Given the description of an element on the screen output the (x, y) to click on. 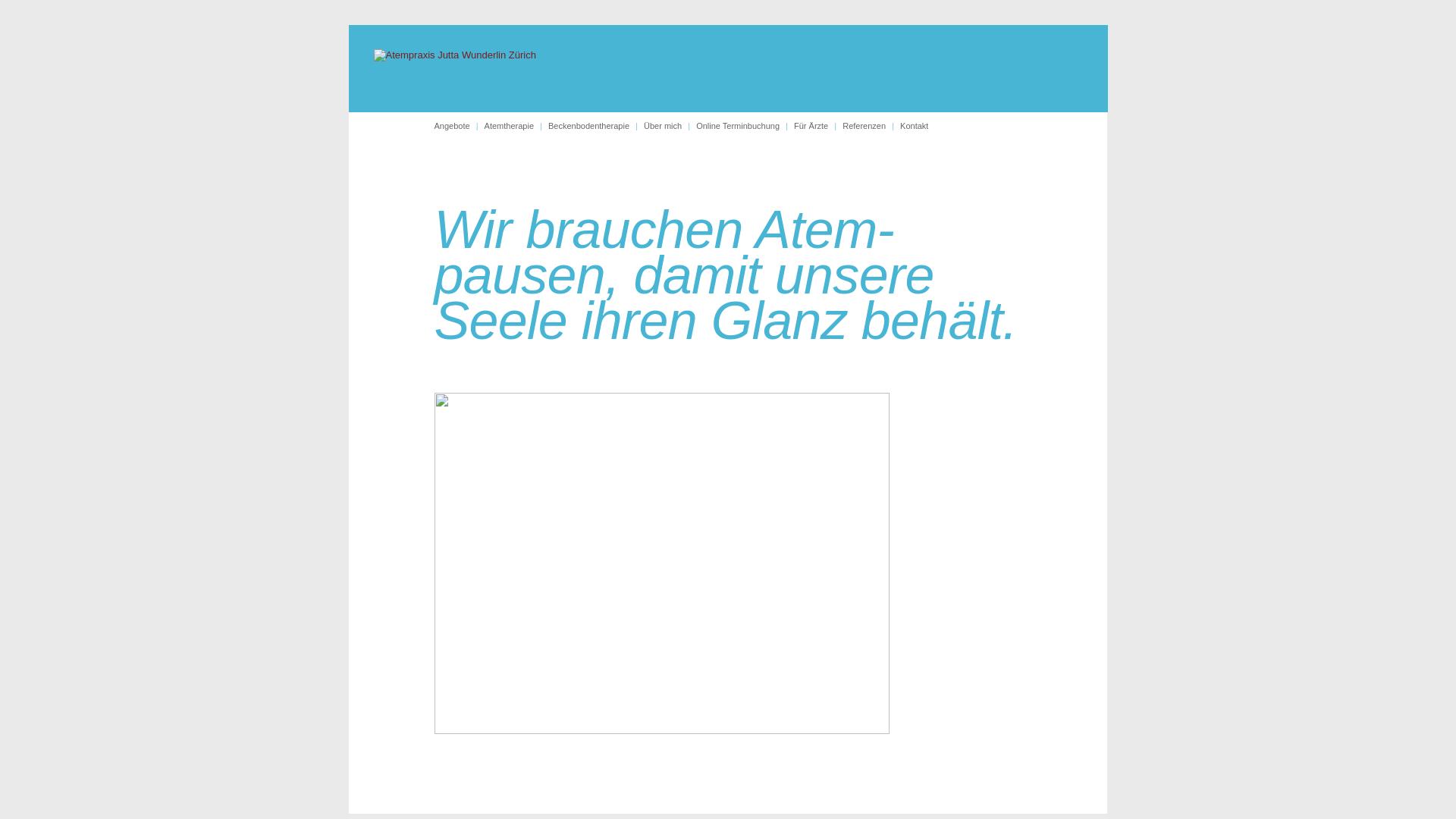
Atemtherapie |  Element type: text (516, 125)
Angebote |  Element type: text (458, 125)
Beckenbodentherapie |  Element type: text (595, 125)
Kontakt Element type: text (914, 125)
Referenzen |  Element type: text (871, 125)
Online Terminbuchung |  Element type: text (744, 125)
